Given the description of an element on the screen output the (x, y) to click on. 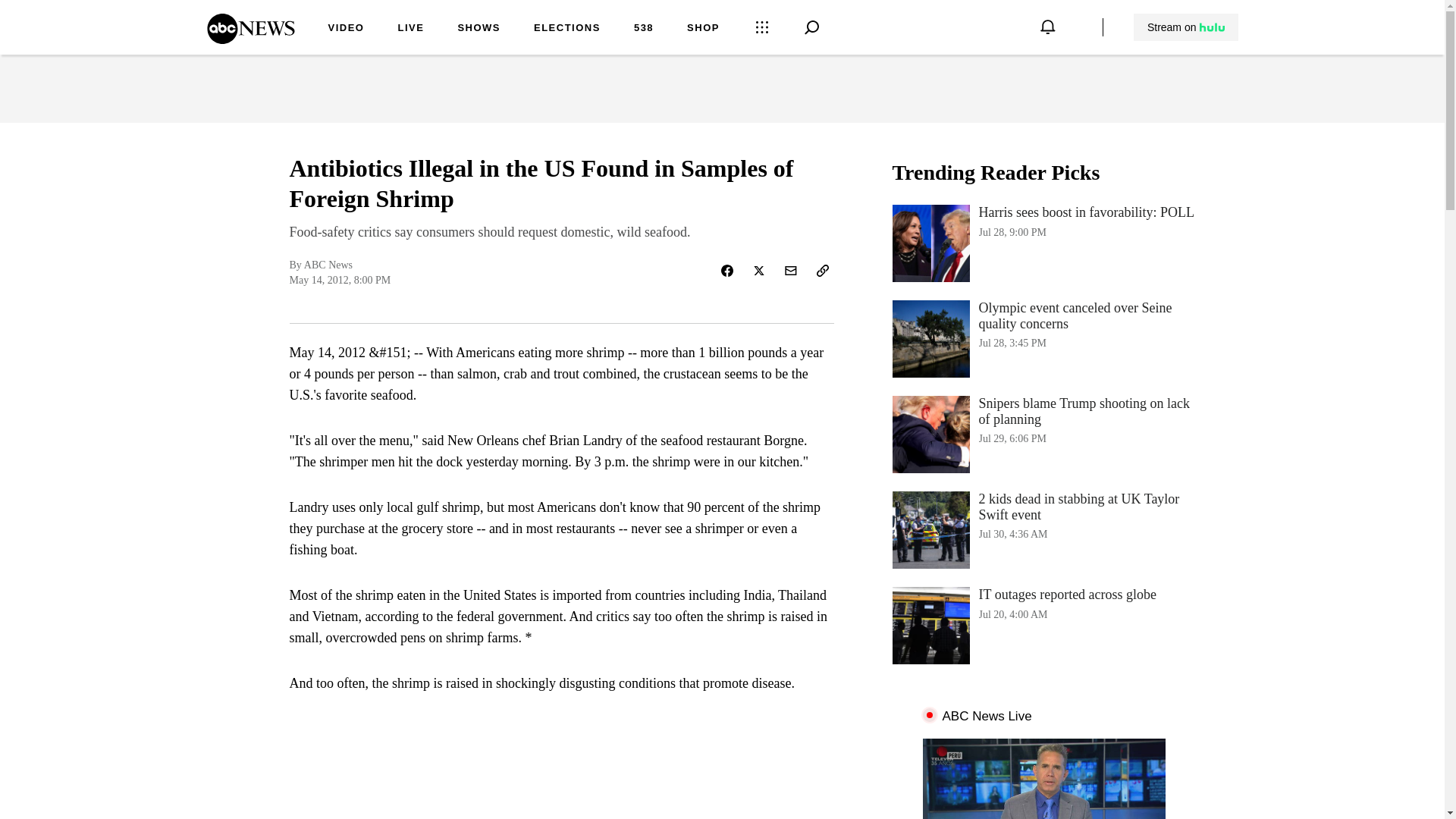
Stream on (1186, 26)
ABC News (1043, 625)
Stream on (250, 38)
SHOP (1185, 27)
538 (703, 28)
VIDEO (643, 28)
LIVE (1043, 242)
ELECTIONS (345, 28)
SHOWS (410, 28)
